Given the description of an element on the screen output the (x, y) to click on. 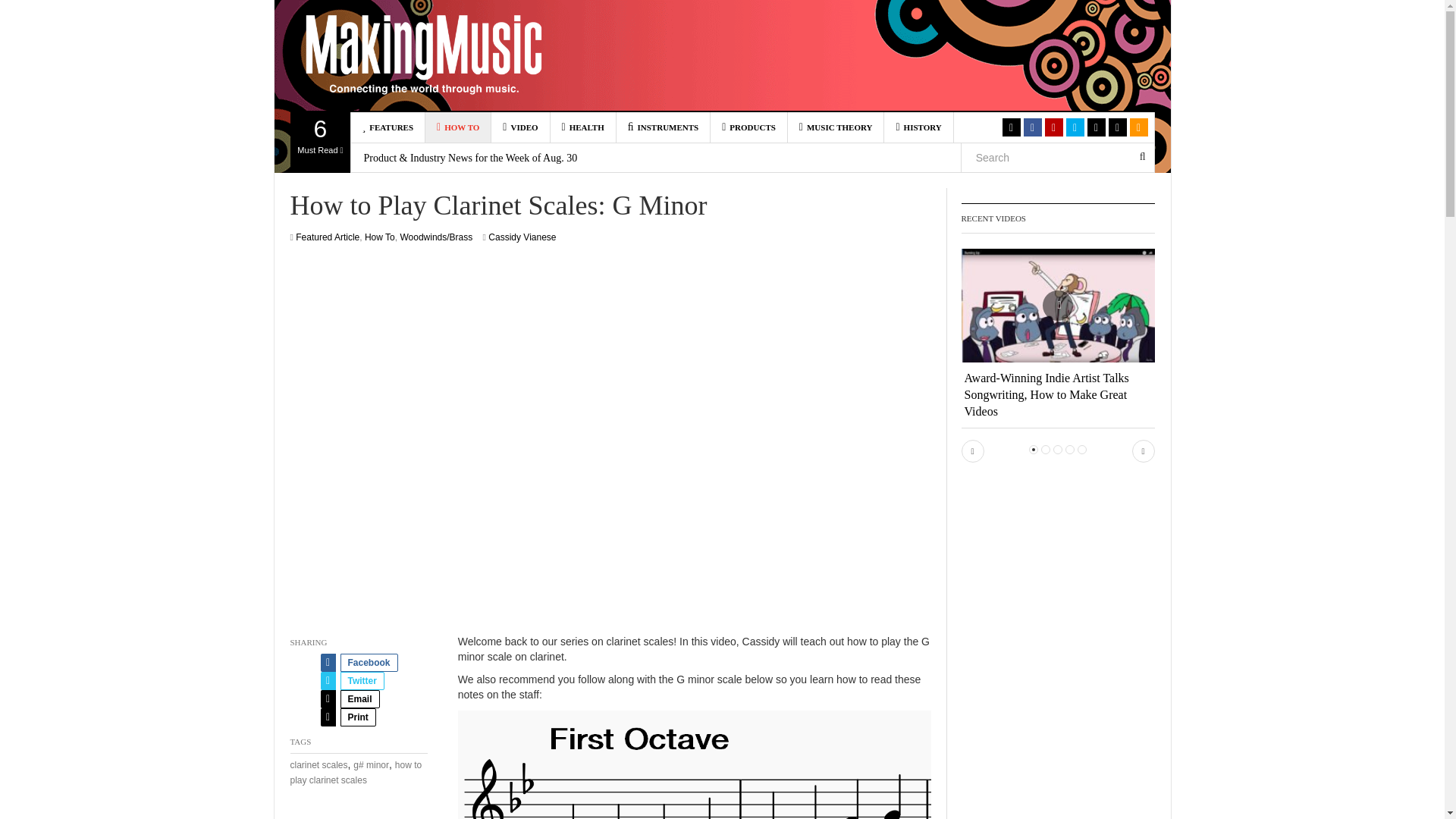
FEATURES (319, 142)
Learn to Play Clarinet Scales: G Minor (387, 127)
HOW TO (423, 55)
